Given the description of an element on the screen output the (x, y) to click on. 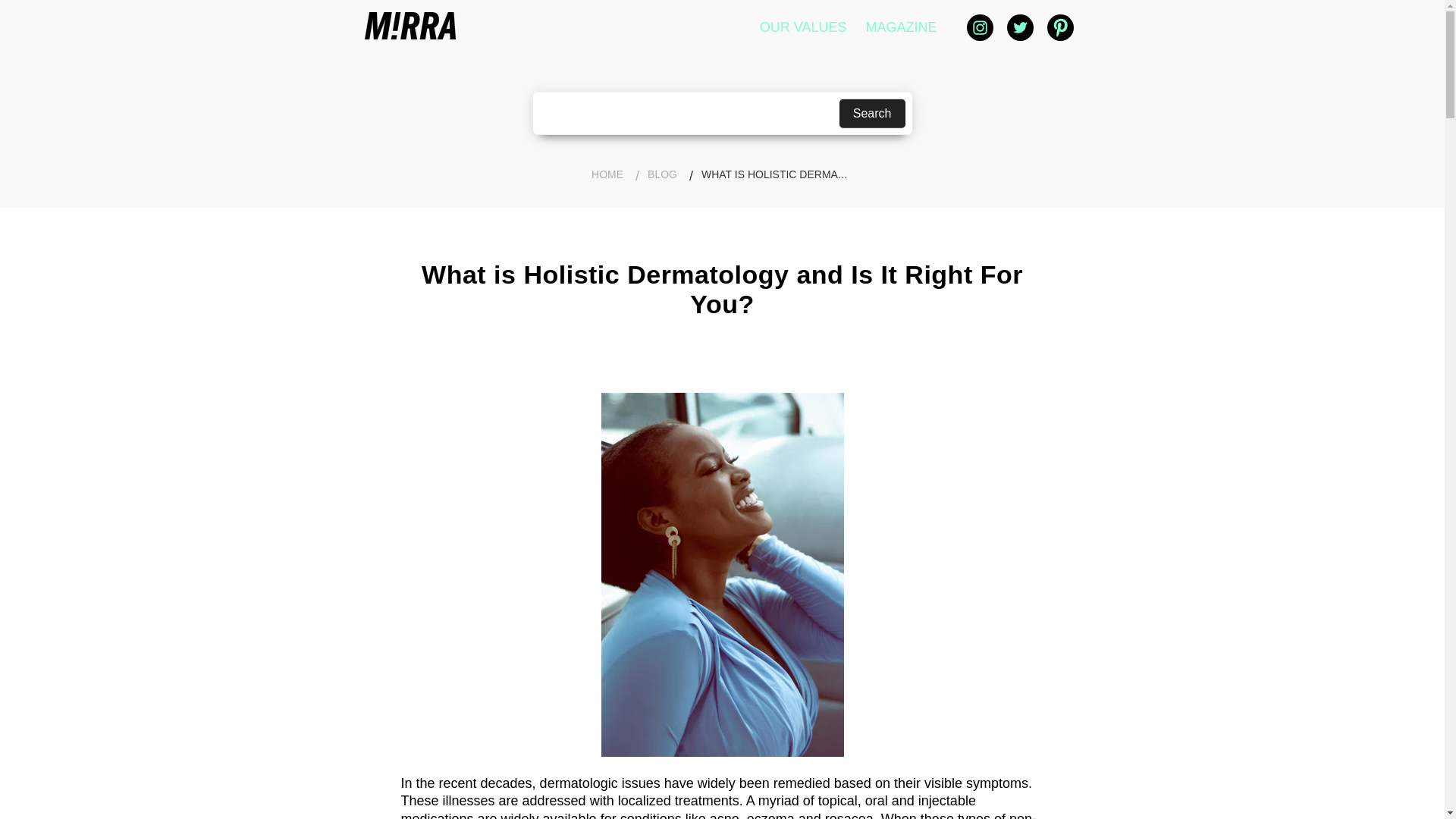
Search (871, 113)
Search (871, 113)
MAGAZINE (900, 26)
OUR VALUES (802, 26)
Home (607, 174)
BLOG (662, 174)
Search (871, 113)
HOME (607, 174)
